Given the description of an element on the screen output the (x, y) to click on. 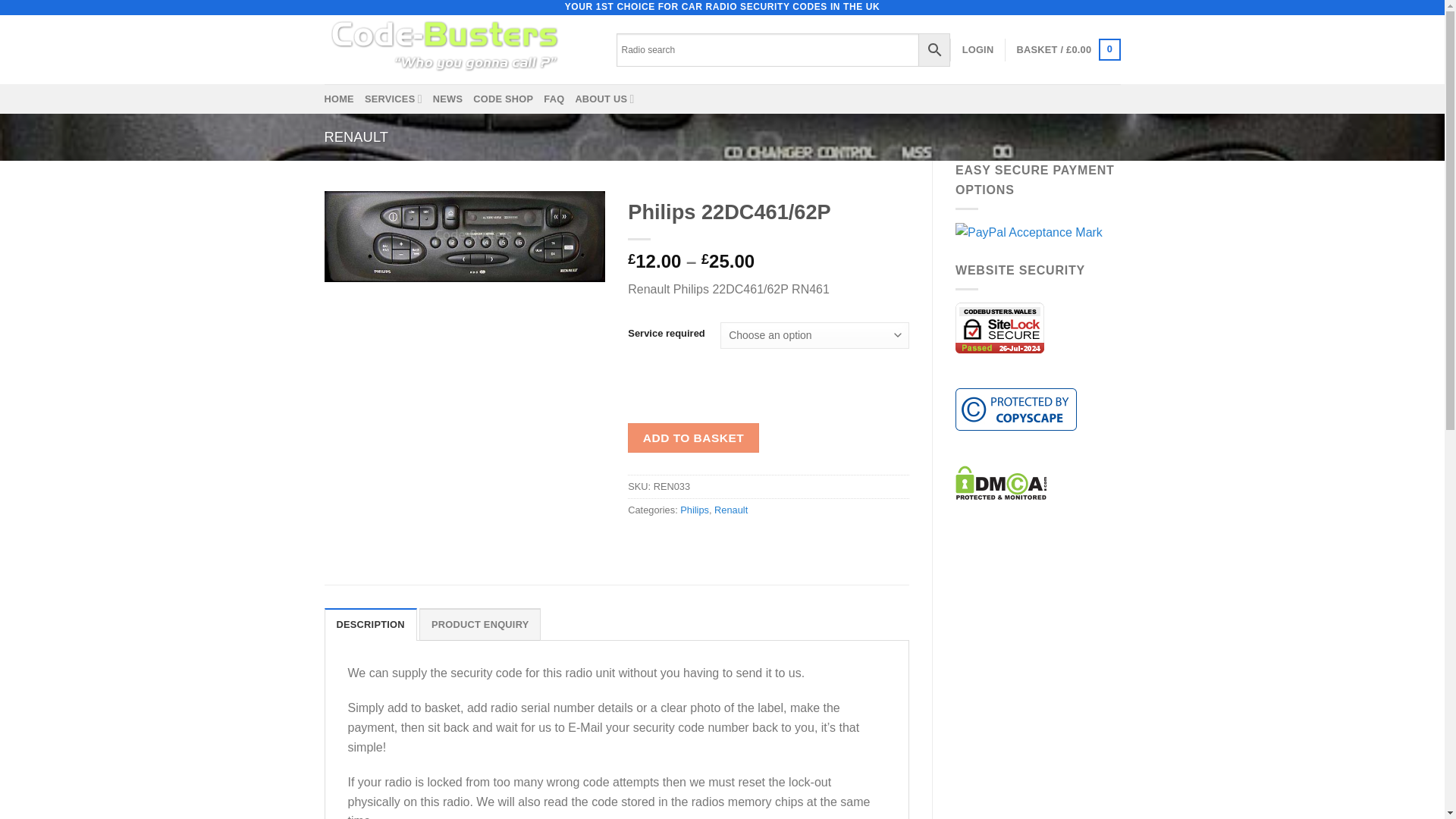
FAQ (553, 99)
ADD TO BASKET (692, 437)
DESCRIPTION (370, 623)
Basket (1067, 49)
CODE SHOP (502, 99)
RENAULT (356, 136)
HOME (338, 99)
ABOUT US (604, 98)
Philips (694, 509)
How PayPal Works (1028, 231)
PRODUCT ENQUIRY (480, 623)
SERVICES (393, 98)
Renault (731, 509)
NEWS (447, 99)
